Given the description of an element on the screen output the (x, y) to click on. 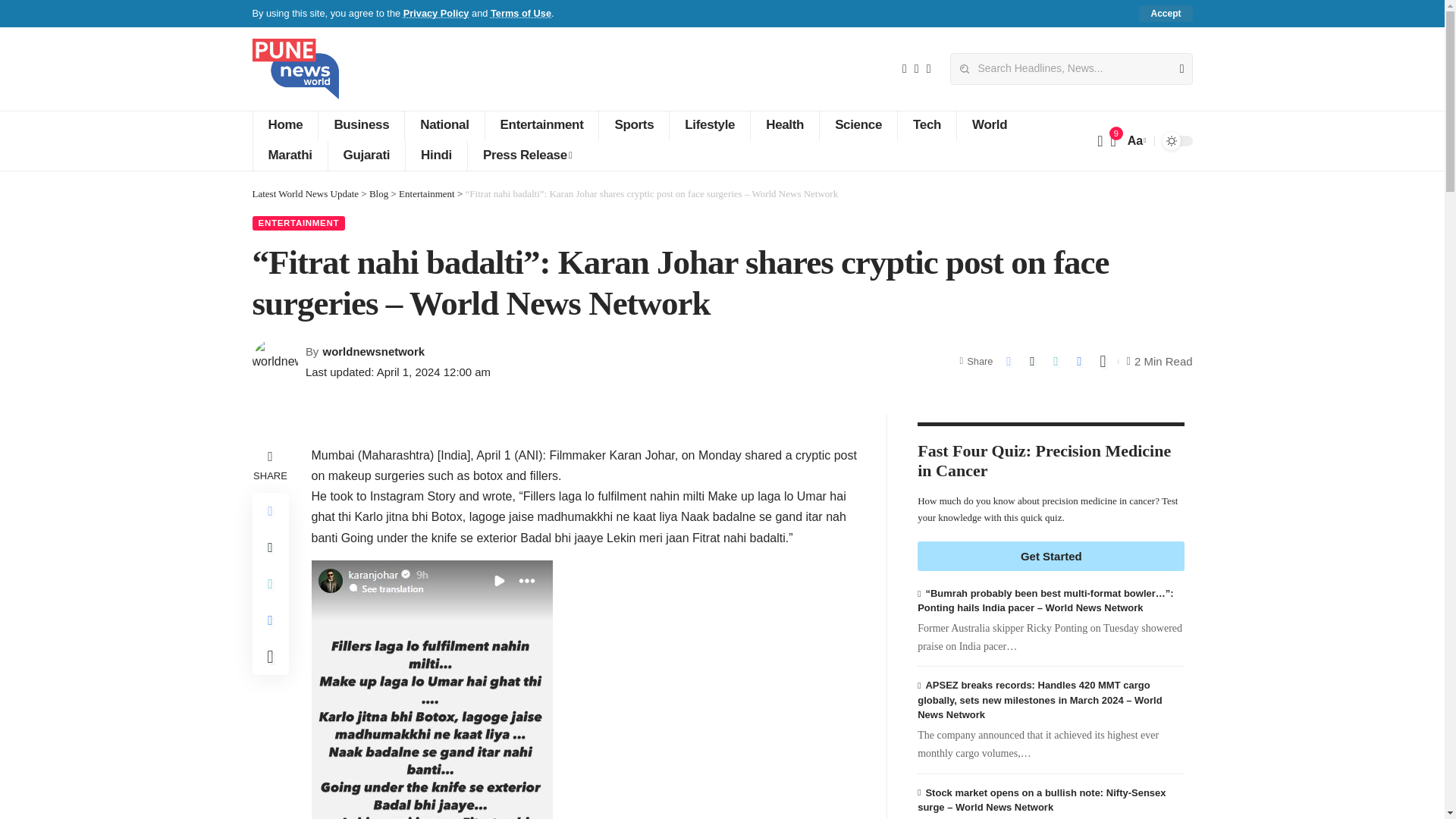
Privacy Policy (435, 12)
Latest World News Update (294, 68)
Marathi (288, 155)
Home (284, 125)
Terms of Use (520, 12)
Entertainment (541, 125)
Health (783, 125)
Lifestyle (708, 125)
Go to the Entertainment Category archives. (426, 193)
Accept (1165, 13)
